Given the description of an element on the screen output the (x, y) to click on. 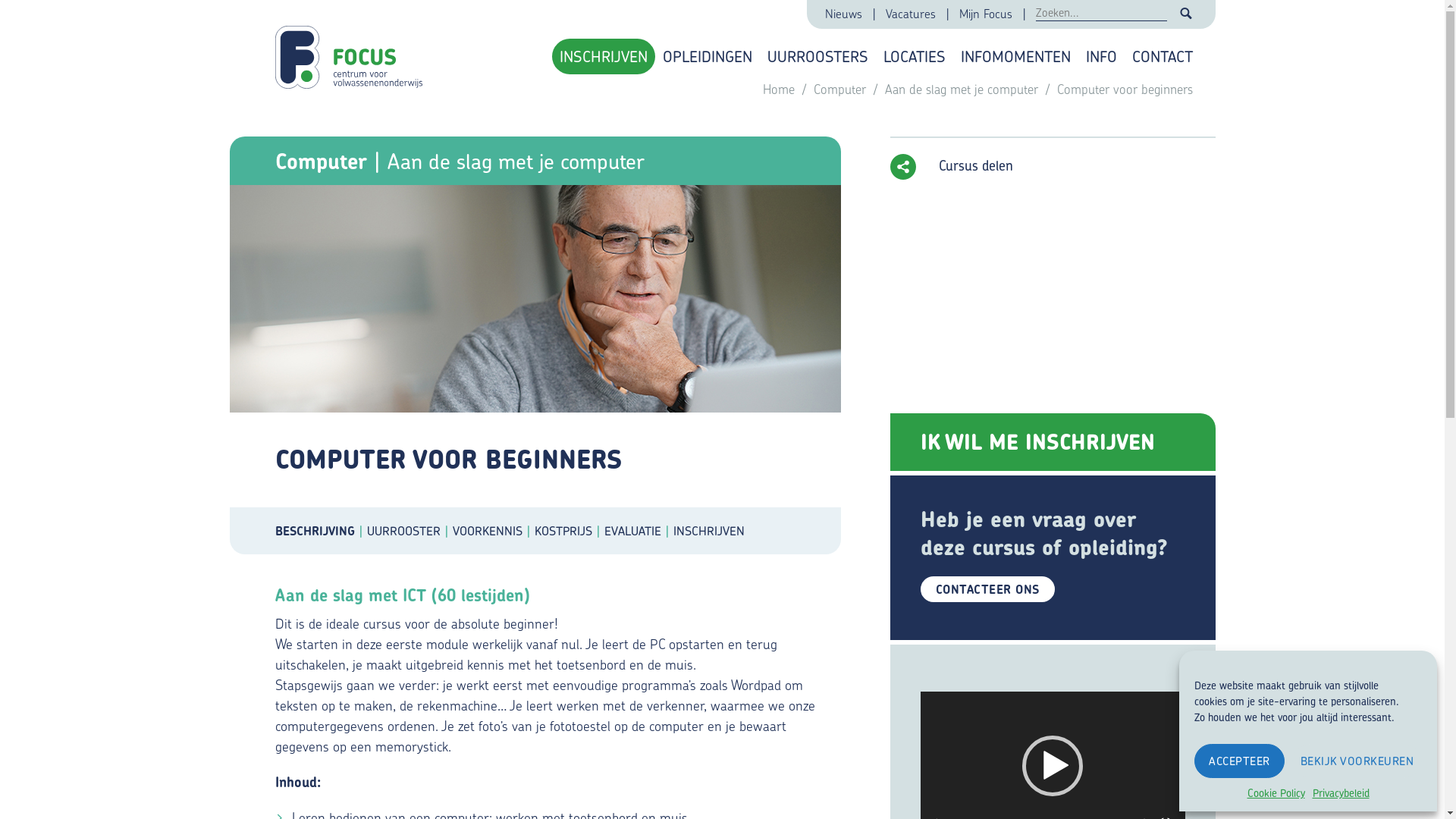
Aan de slag met je computer Element type: text (514, 161)
VOORKENNIS Element type: text (492, 530)
Nieuws Element type: text (844, 14)
Cookie Policy Element type: text (1275, 792)
Aan de slag met je computer Element type: text (962, 88)
Vacatures Element type: text (911, 14)
Computer Element type: text (840, 88)
KOSTPRIJS Element type: text (568, 530)
INFOMOMENTEN Element type: text (1014, 56)
Privacybeleid Element type: text (1339, 792)
LOCATIES Element type: text (913, 56)
OPLEIDINGEN Element type: text (707, 56)
UURROOSTERS Element type: text (817, 56)
INFO Element type: text (1101, 56)
EVALUATIE Element type: text (637, 530)
Mijn Focus Element type: text (986, 14)
Homepage CVO Focus Element type: hover (351, 49)
CONTACTEER ONS Element type: text (987, 589)
ZOEKEN Element type: text (1186, 13)
BESCHRIJVING Element type: text (320, 530)
ACCEPTEER Element type: text (1239, 760)
UURROOSTER Element type: text (409, 530)
IK WIL ME INSCHRIJVEN Element type: text (1052, 441)
Computer Element type: text (320, 161)
BEKIJK VOORKEUREN Element type: text (1357, 760)
INSCHRIJVEN Element type: text (708, 530)
CONTACT Element type: text (1161, 56)
INSCHRIJVEN Element type: text (603, 56)
Home Element type: text (780, 88)
